Given the description of an element on the screen output the (x, y) to click on. 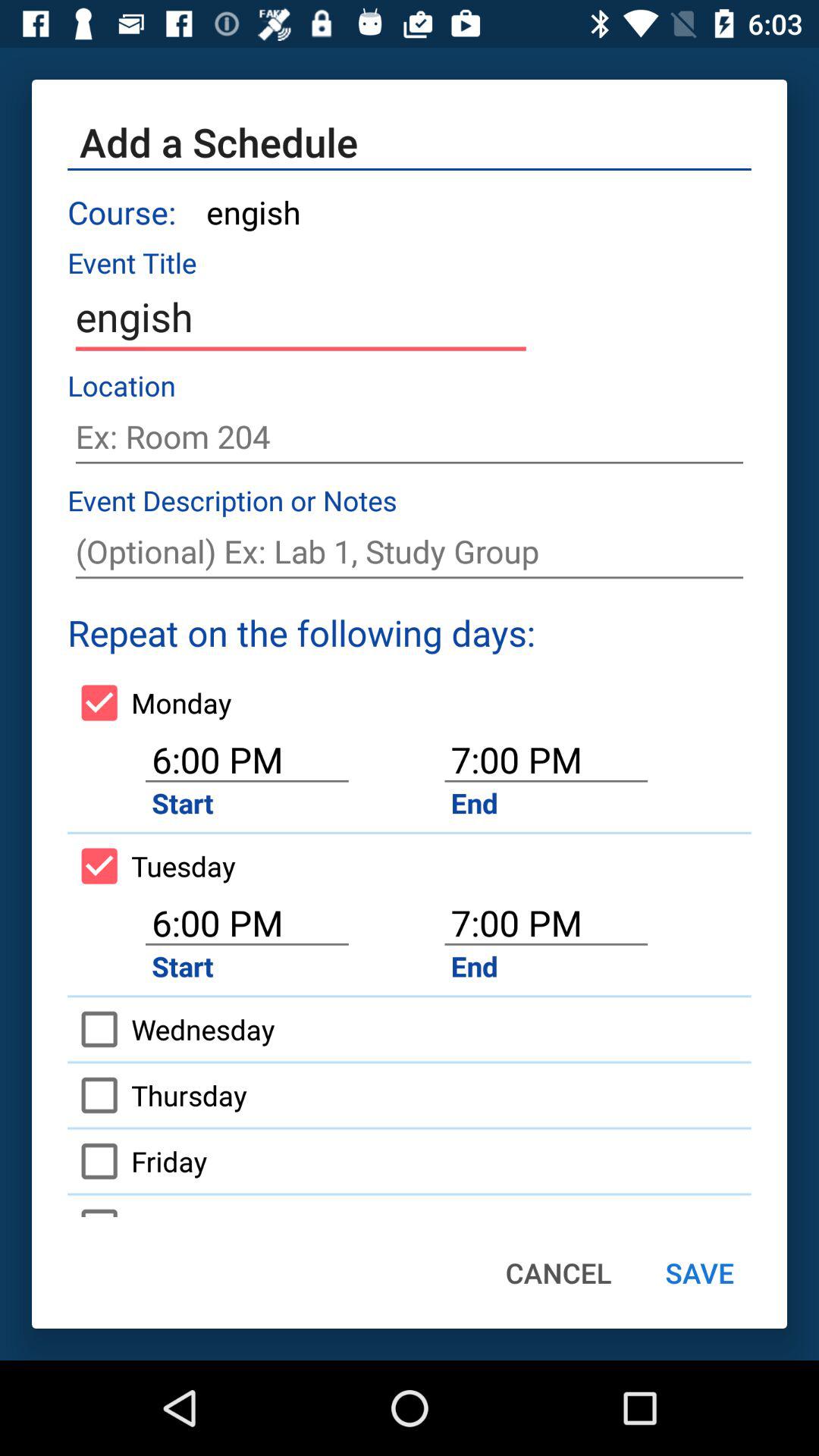
launch the icon to the left of 7:00 pm item (149, 702)
